Given the description of an element on the screen output the (x, y) to click on. 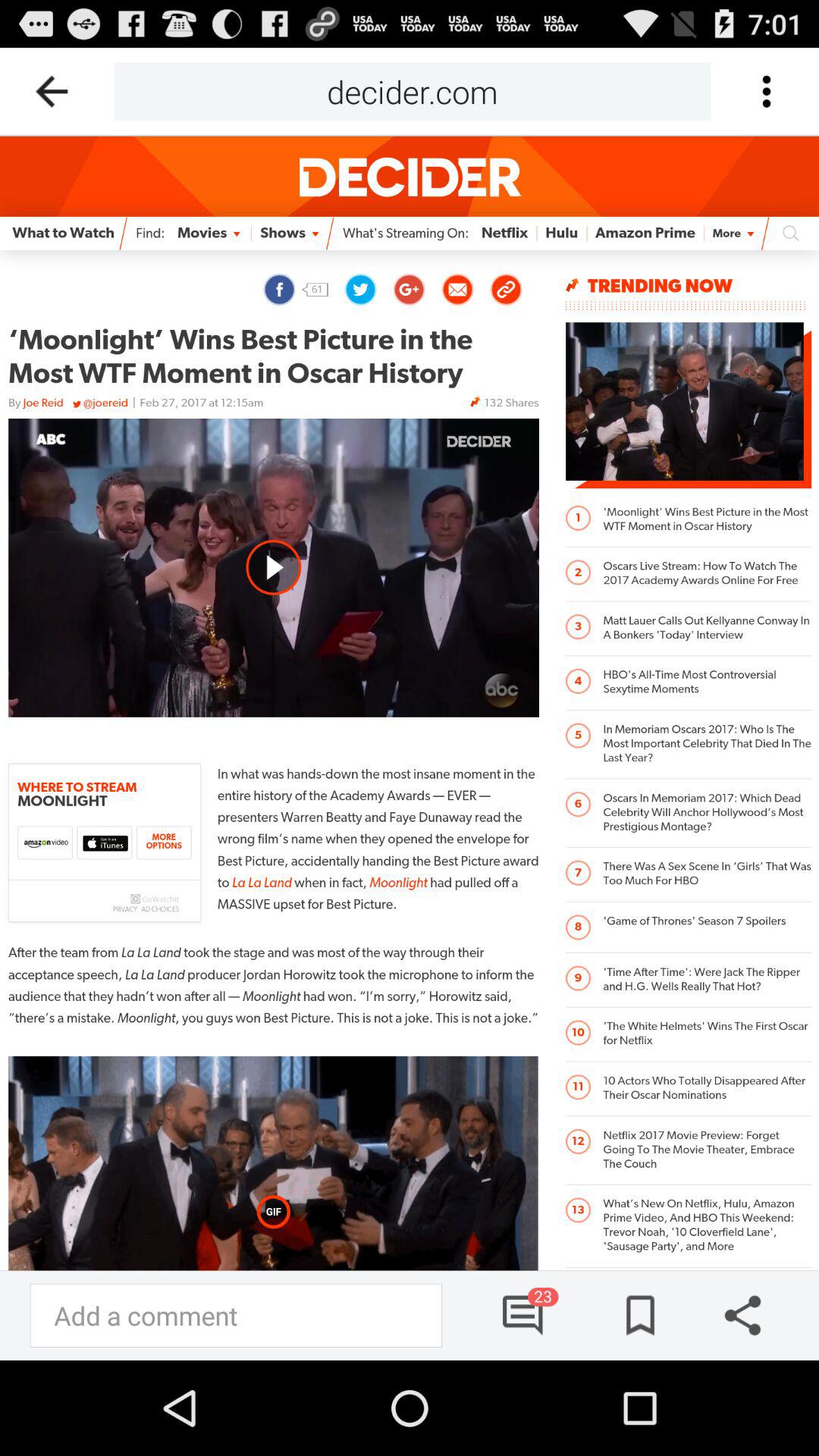
read options (765, 91)
